Given the description of an element on the screen output the (x, y) to click on. 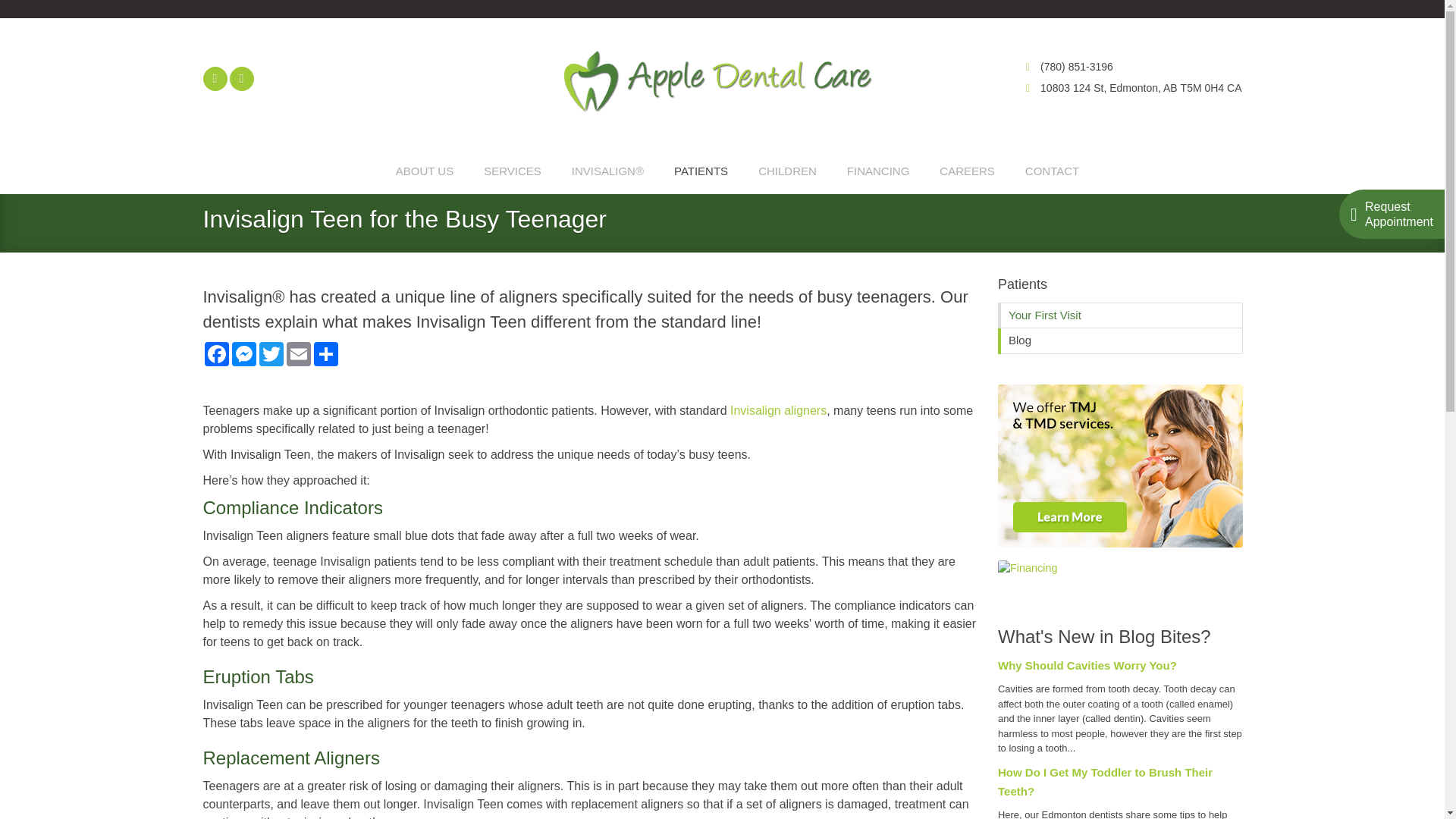
ABOUT US (424, 171)
